Given the description of an element on the screen output the (x, y) to click on. 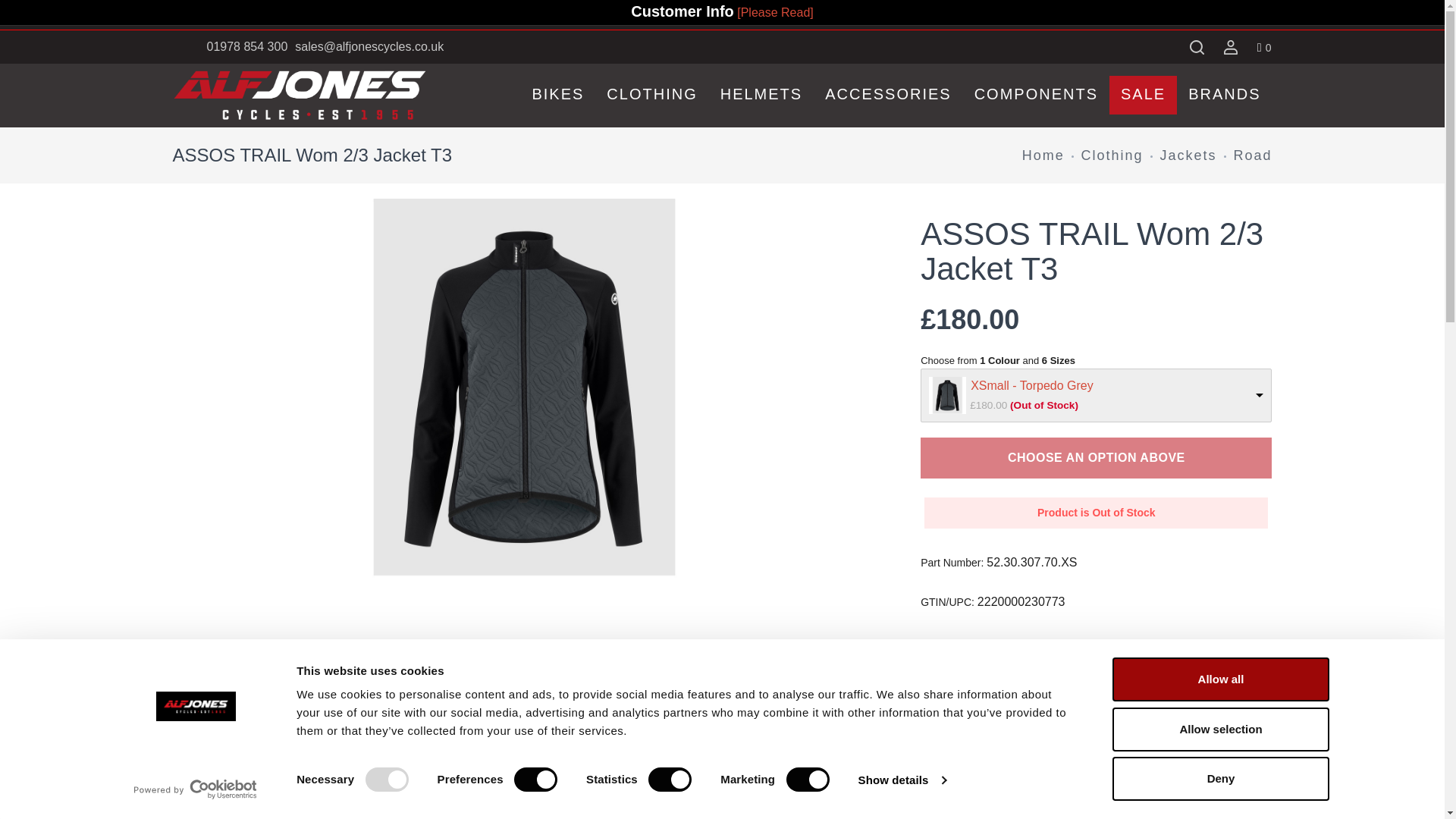
Show details (900, 780)
Deny (1219, 778)
Allow selection (1219, 728)
Allow all (1219, 679)
